Given the description of an element on the screen output the (x, y) to click on. 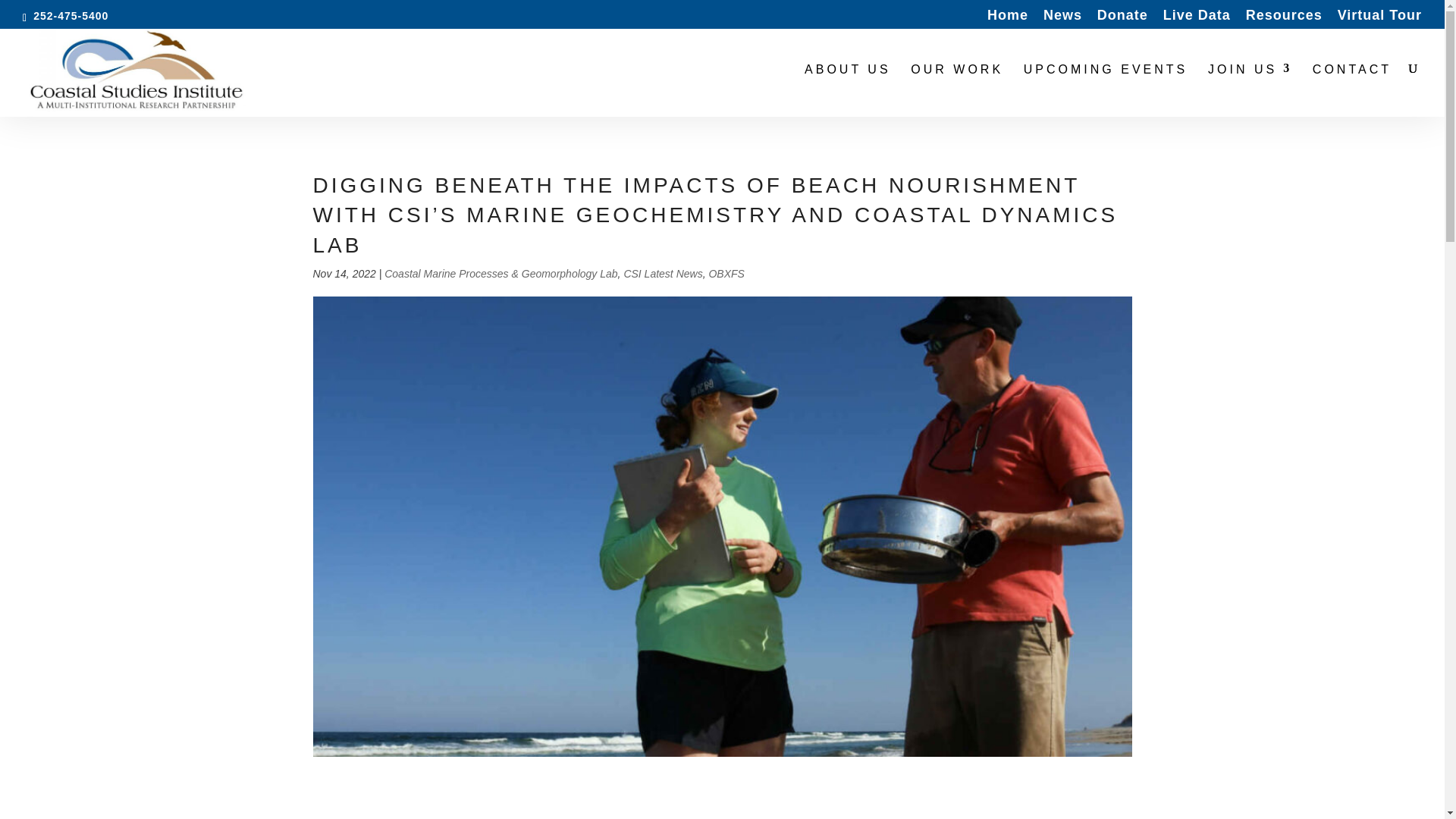
ABOUT US (848, 90)
CSI Latest News (662, 273)
CONTACT (1352, 90)
UPCOMING EVENTS (1105, 90)
Live Data (1196, 19)
OUR WORK (957, 90)
Virtual Tour (1380, 19)
JOIN US (1250, 90)
News (1062, 19)
Resources (1284, 19)
